Given the description of an element on the screen output the (x, y) to click on. 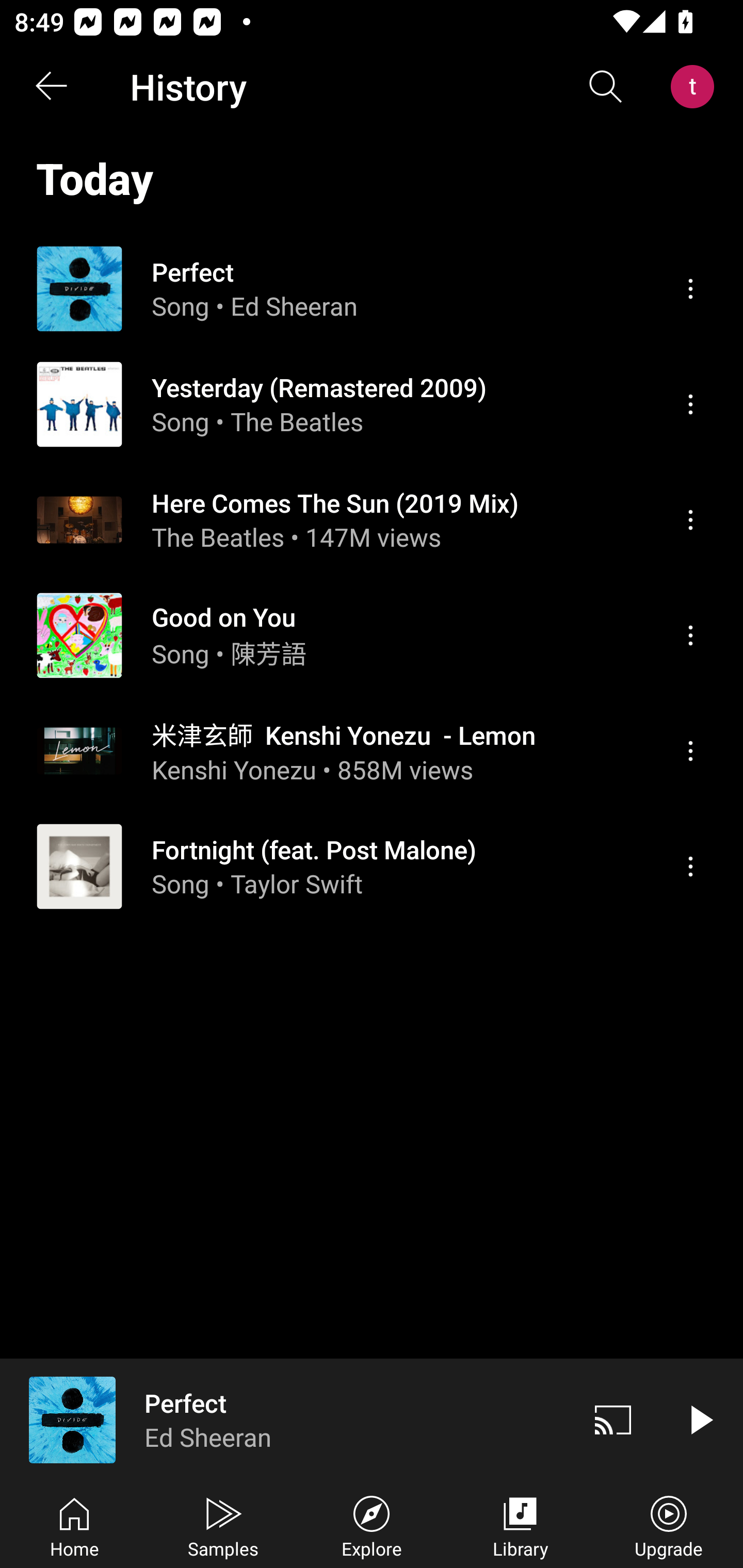
Back (50, 86)
Search (605, 86)
Account (696, 86)
Menu (690, 288)
Menu (690, 404)
Menu (690, 520)
Menu (690, 634)
Menu (690, 751)
Menu (690, 867)
Perfect Ed Sheeran (284, 1419)
Cast. Disconnected (612, 1419)
Play video (699, 1419)
Home (74, 1524)
Samples (222, 1524)
Explore (371, 1524)
Upgrade (668, 1524)
